Given the description of an element on the screen output the (x, y) to click on. 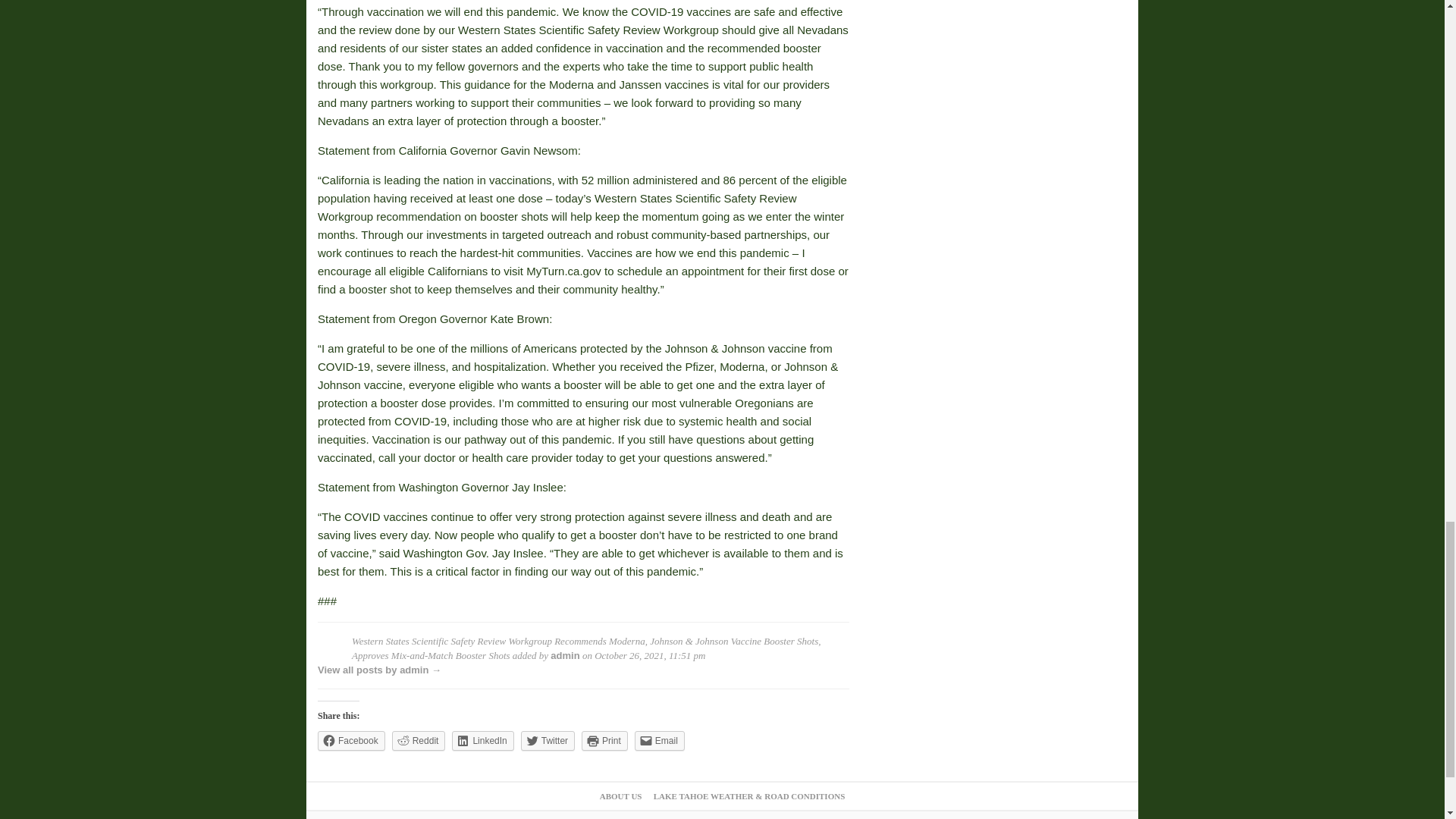
Click to email a link to a friend (659, 741)
Click to share on Twitter (548, 741)
Click to share on Reddit (418, 741)
Click to share on Facebook (351, 741)
Click to share on LinkedIn (482, 741)
Click to print (603, 741)
